Given the description of an element on the screen output the (x, y) to click on. 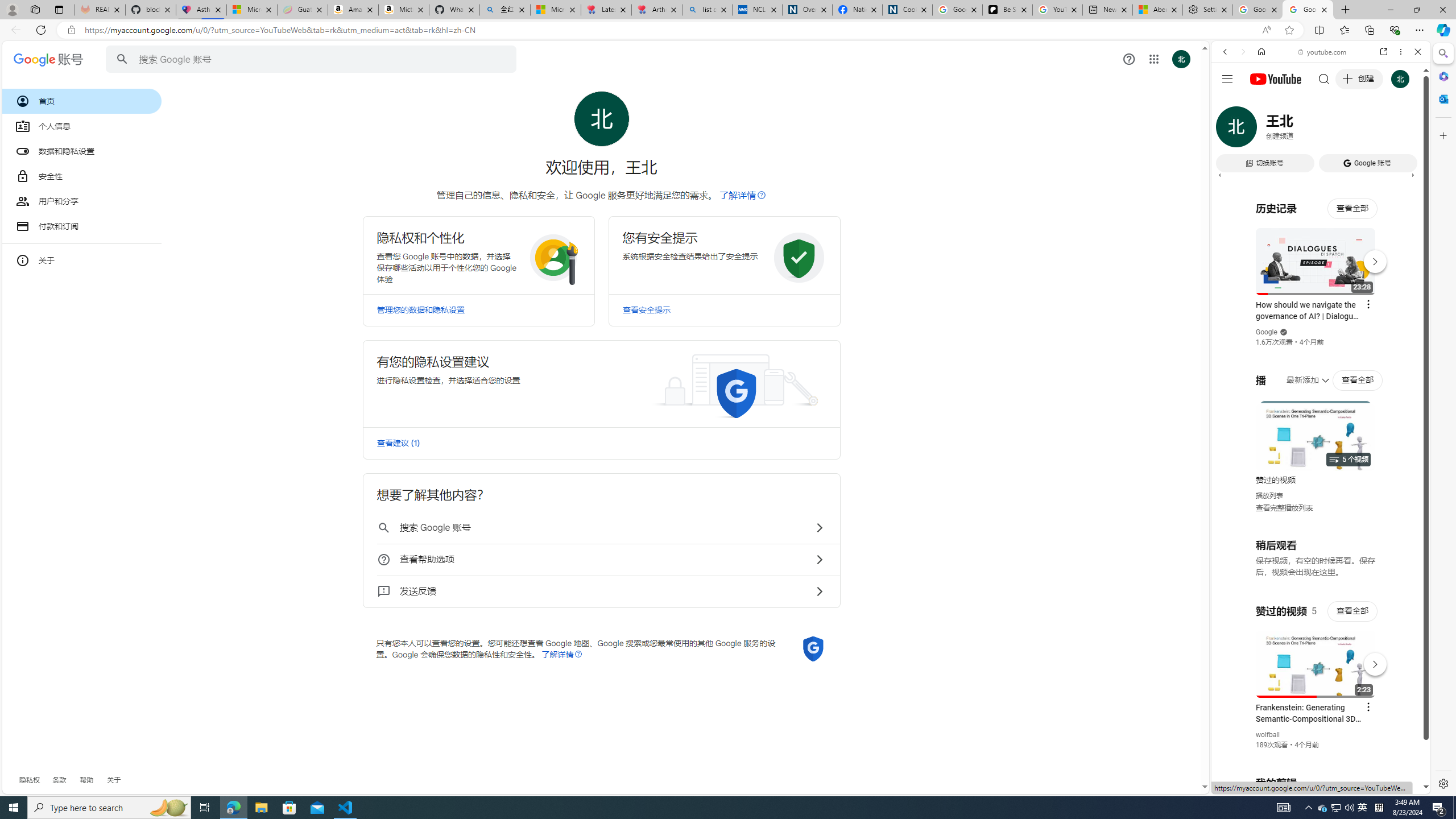
Class: RlFDUe N5YmOc kJXJmd bvW4md I6g62c (601, 383)
Cookies (907, 9)
